Given the description of an element on the screen output the (x, y) to click on. 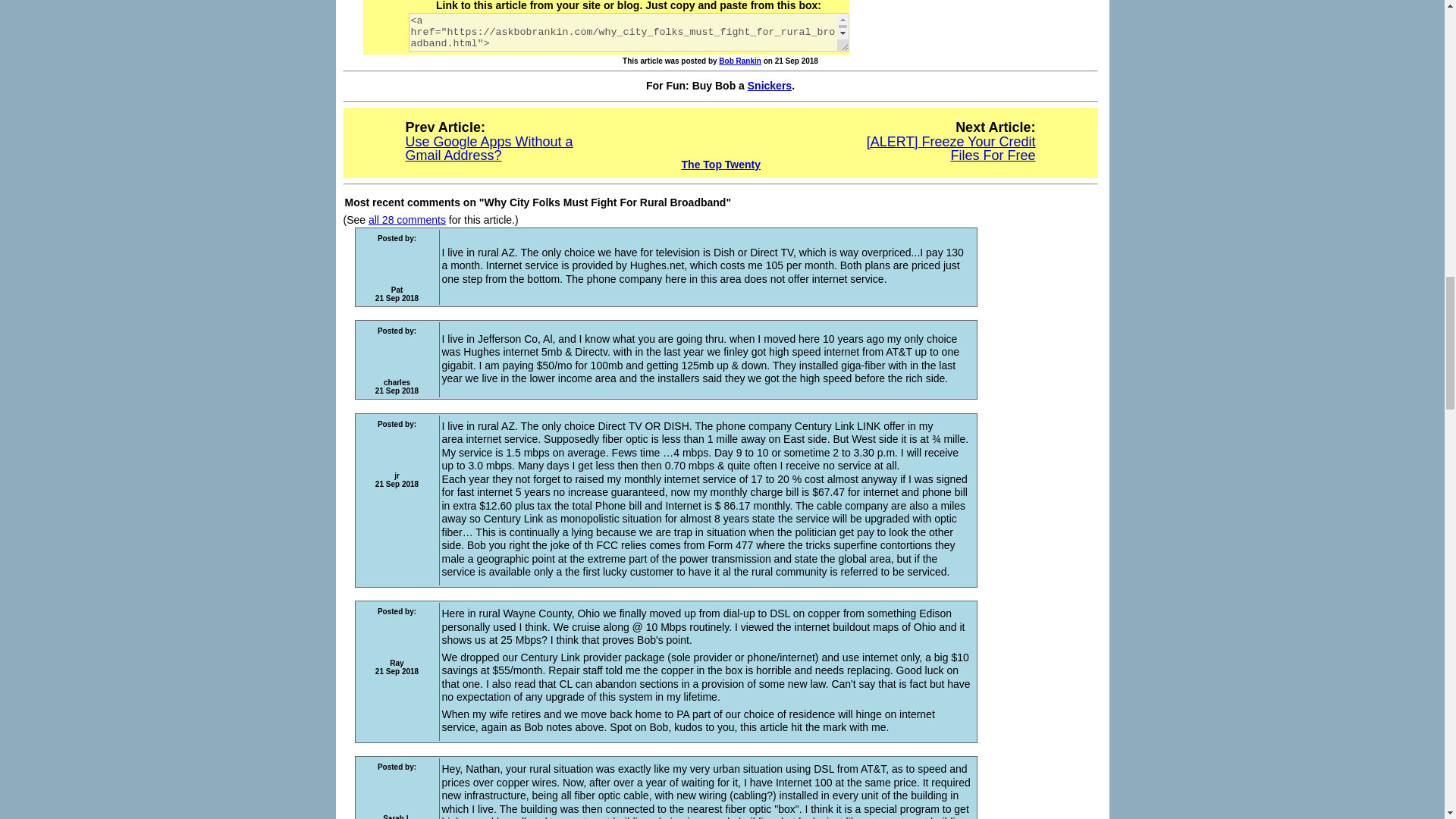
Bob Rankin (740, 60)
